Given the description of an element on the screen output the (x, y) to click on. 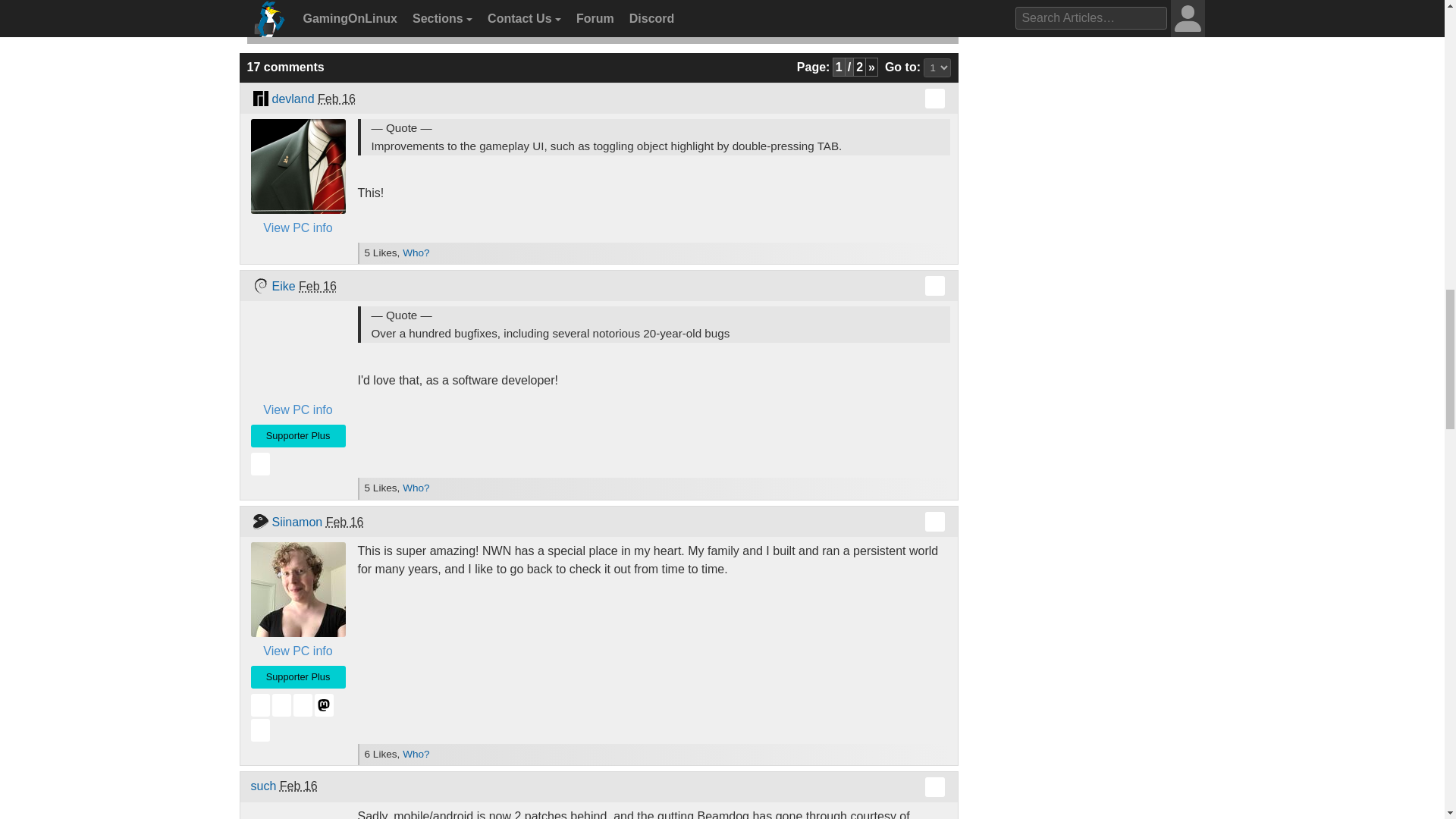
Gentoo (259, 521)
Debian (259, 285)
Manjaro (259, 98)
Link to this comment (934, 285)
Link to this comment (934, 521)
Link to this comment (934, 786)
Link to this comment (934, 98)
